Given the description of an element on the screen output the (x, y) to click on. 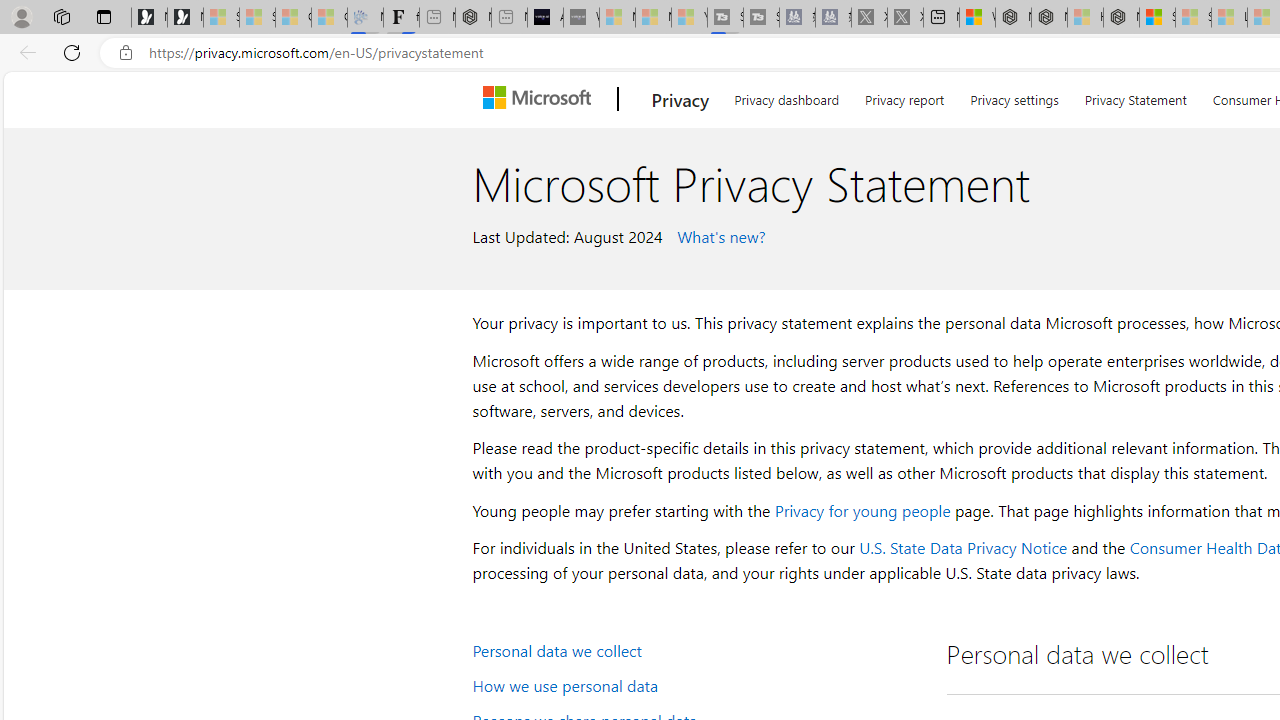
Privacy Statement (1135, 96)
Nordace - Nordace Siena Is Not An Ordinary Backpack (1121, 17)
Personal data we collect (696, 650)
Privacy settings (1014, 96)
Privacy (680, 99)
